Given the description of an element on the screen output the (x, y) to click on. 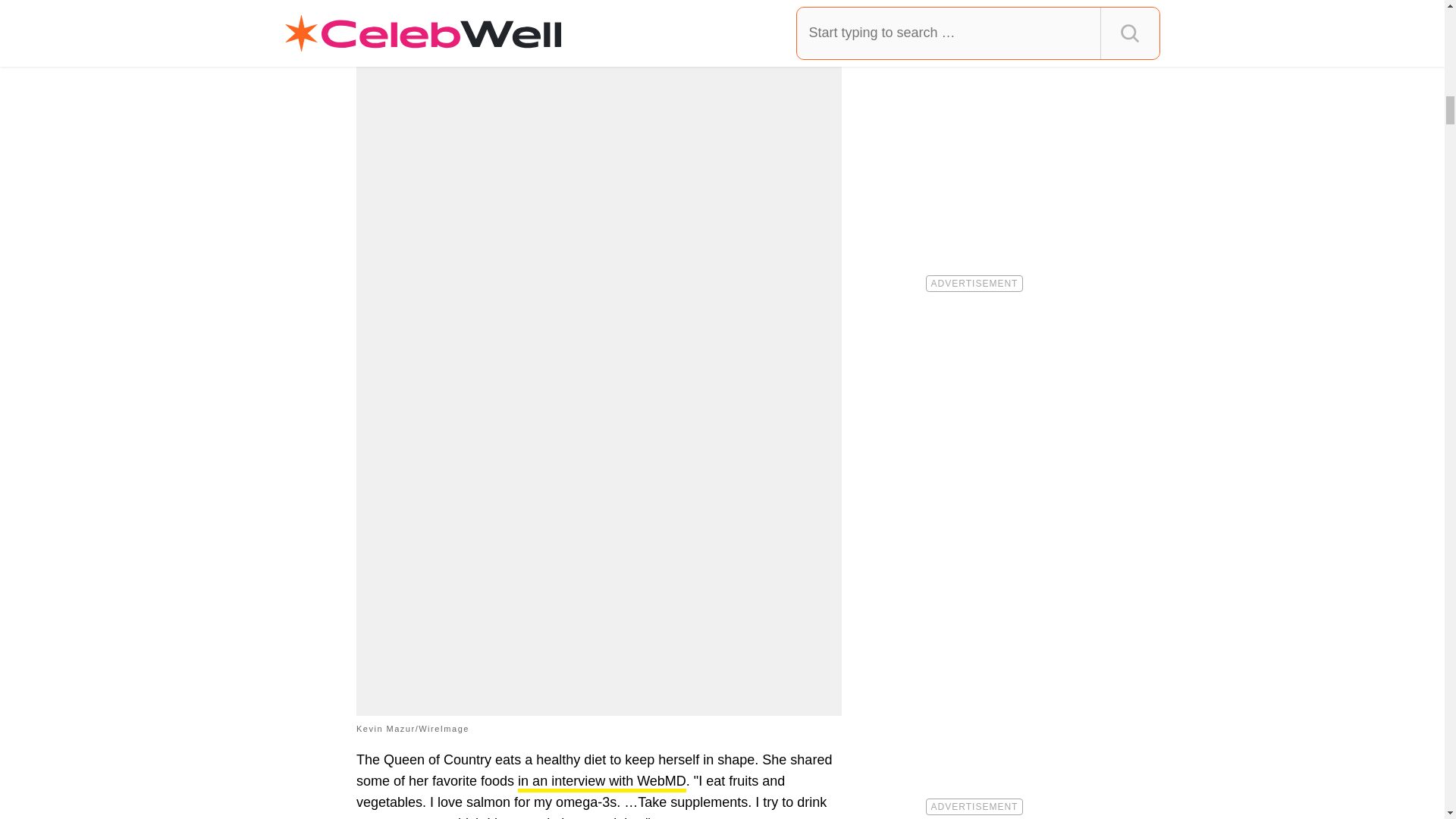
in an interview with WebMD (601, 782)
